Given the description of an element on the screen output the (x, y) to click on. 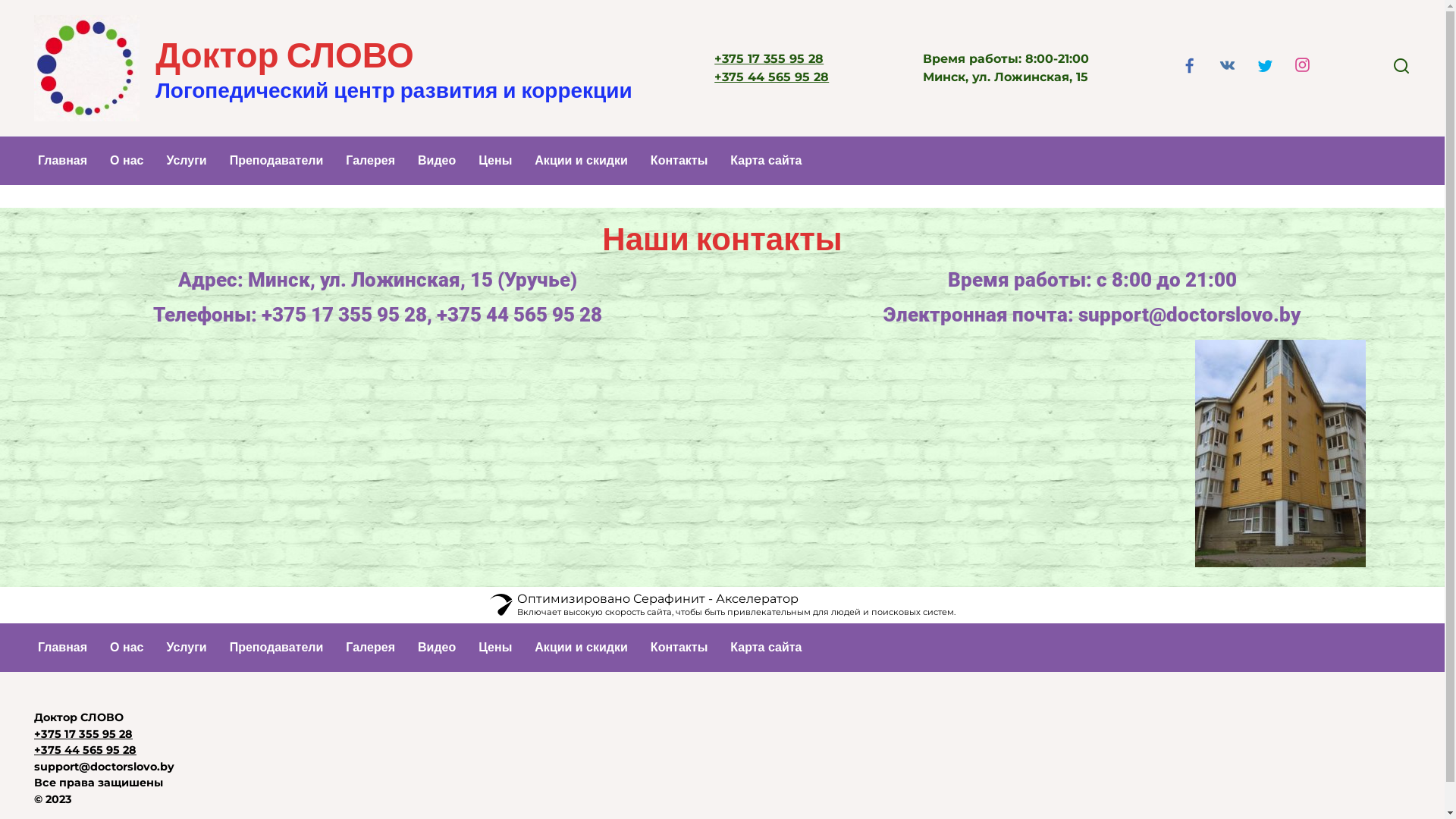
+375 44 565 95 28 Element type: text (85, 749)
+375 17 355 95 28 Element type: text (83, 733)
+375 44 565 95 28 Element type: text (771, 76)
+375 17 355 95 28 Element type: text (768, 58)
